Given the description of an element on the screen output the (x, y) to click on. 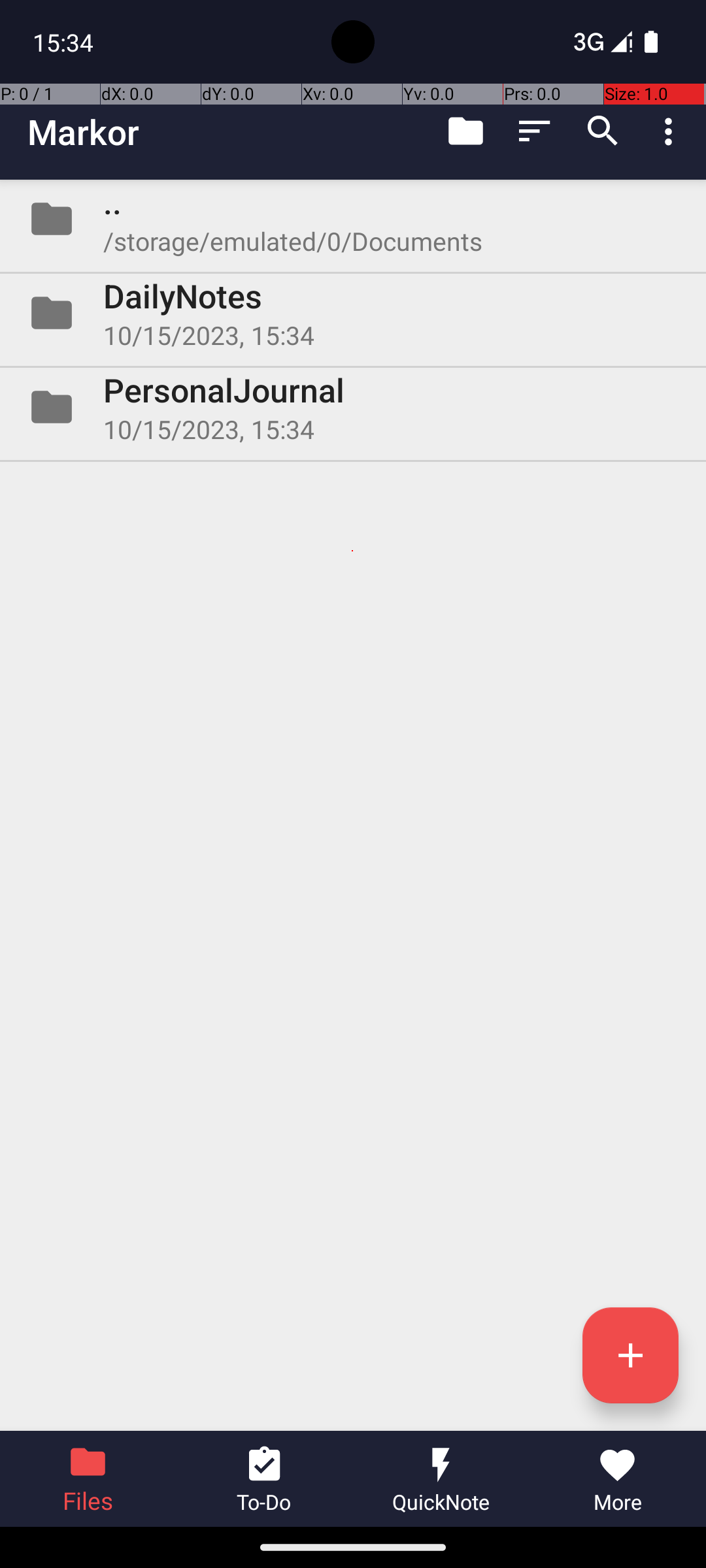
Folder DailyNotes  Element type: android.widget.LinearLayout (353, 312)
Folder PersonalJournal  Element type: android.widget.LinearLayout (353, 406)
